Given the description of an element on the screen output the (x, y) to click on. 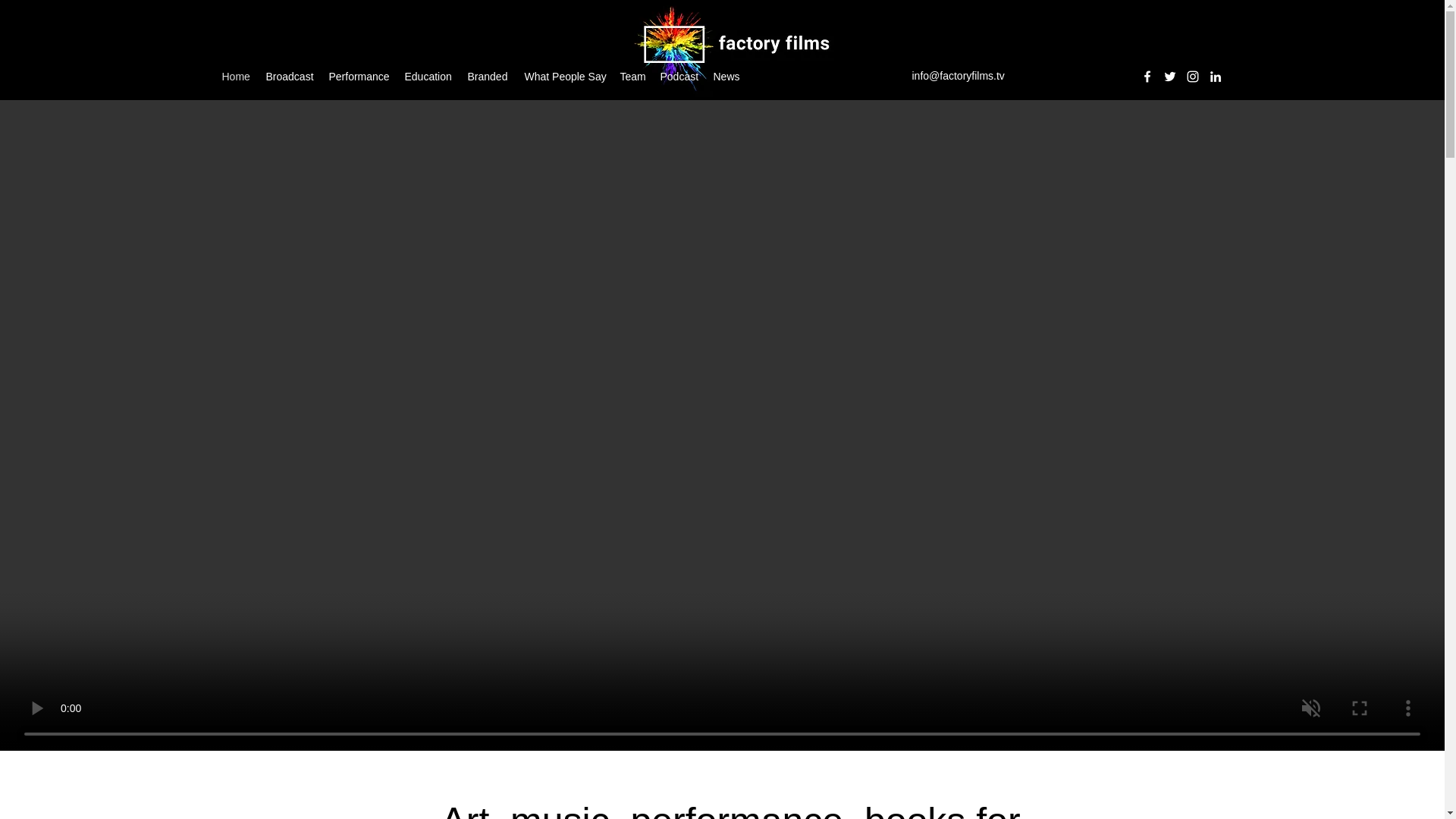
Podcast (678, 76)
Team (632, 76)
Branded (488, 76)
Home (235, 76)
Performance (359, 76)
News (725, 76)
Broadcast (288, 76)
What People Say (564, 76)
Education (428, 76)
